Given the description of an element on the screen output the (x, y) to click on. 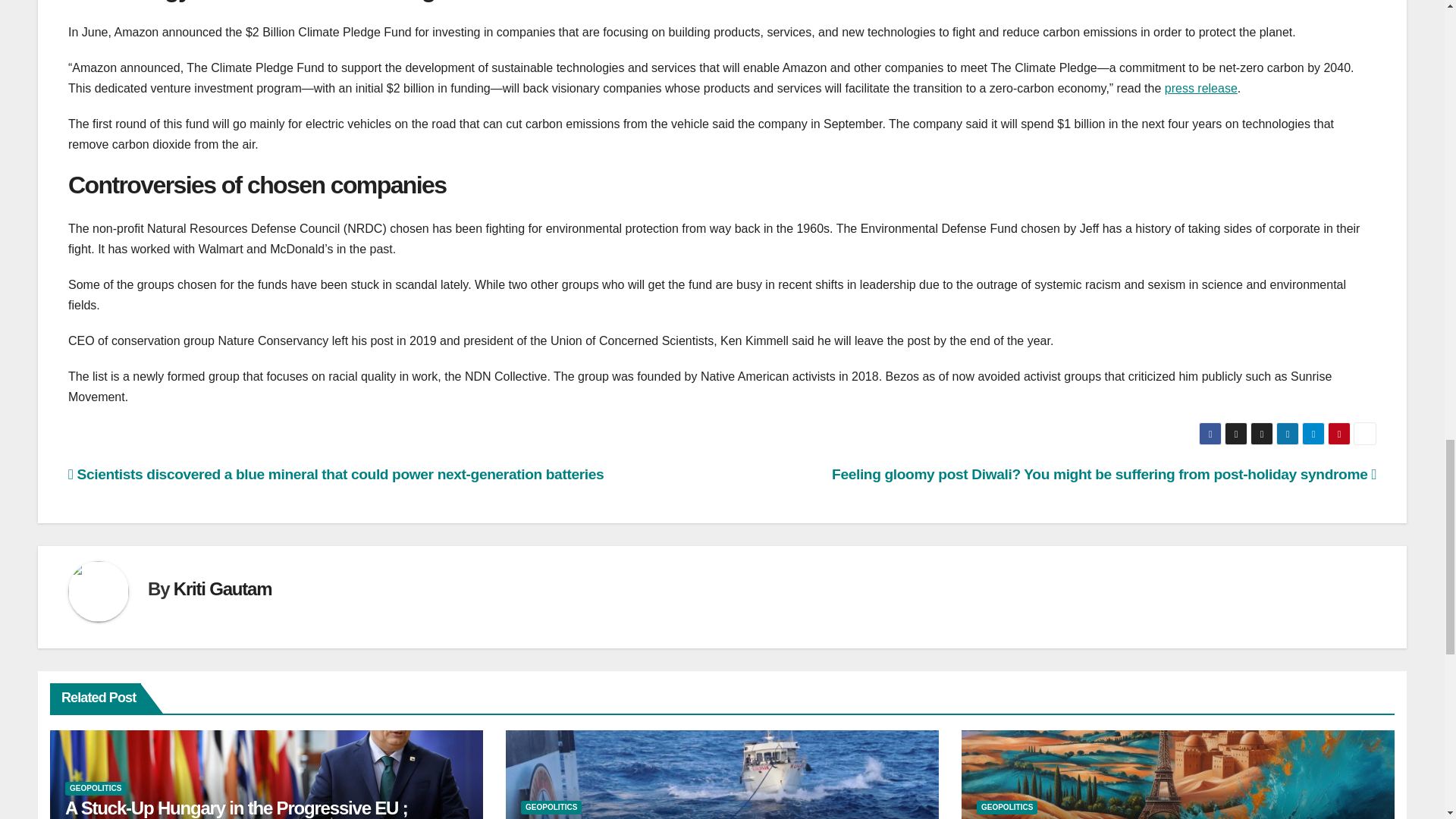
Kriti Gautam (222, 588)
press release (1200, 88)
GEOPOLITICS (95, 788)
